Given the description of an element on the screen output the (x, y) to click on. 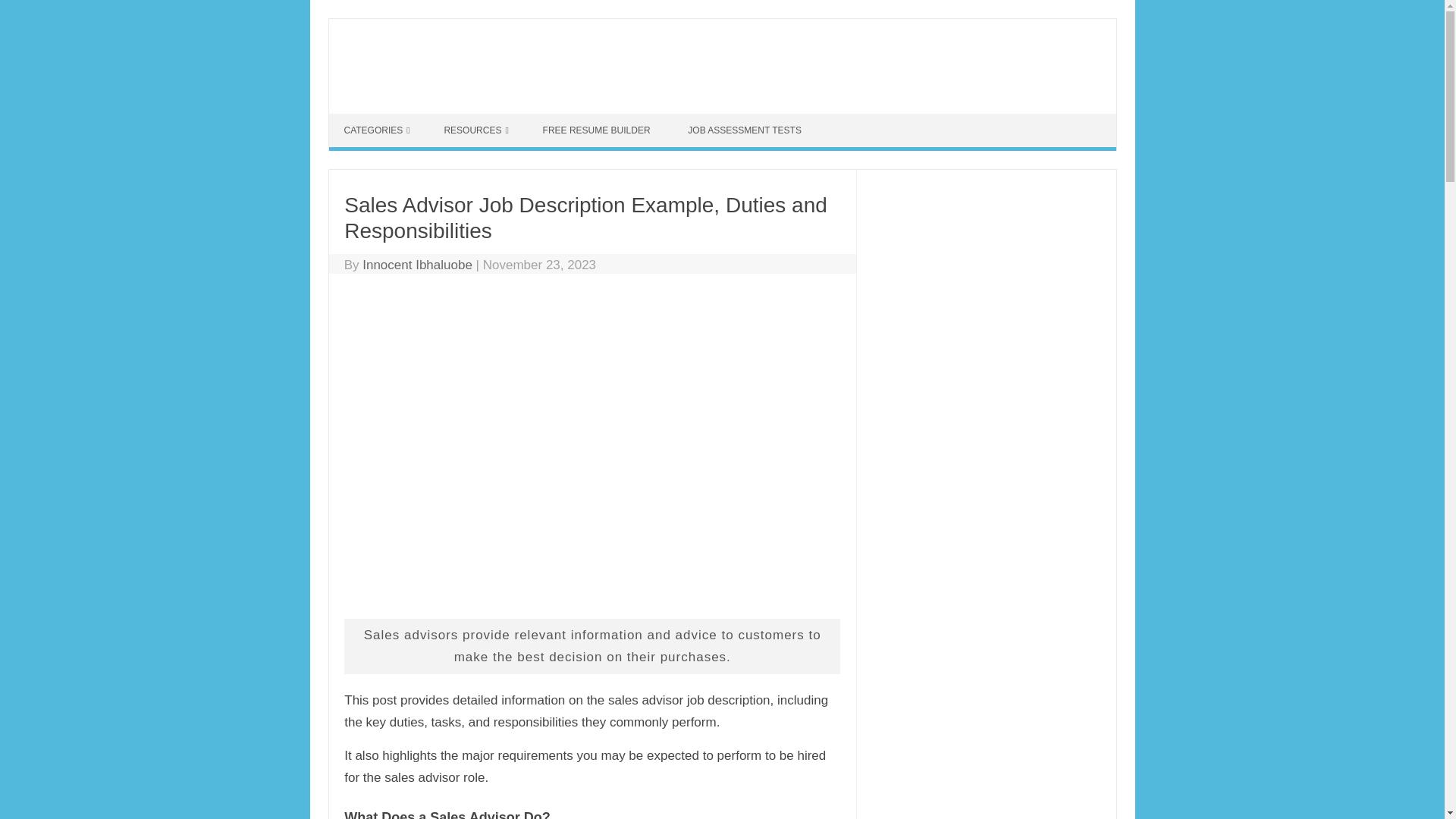
RESOURCES (475, 130)
Posts by Innocent Ibhaluobe (416, 264)
Job Description And Resume Examples (540, 86)
Skip to content (371, 119)
JOB ASSESSMENT TESTS (746, 130)
FREE RESUME BUILDER (598, 130)
Skip to content (371, 119)
Innocent Ibhaluobe (416, 264)
CATEGORIES (377, 130)
